Given the description of an element on the screen output the (x, y) to click on. 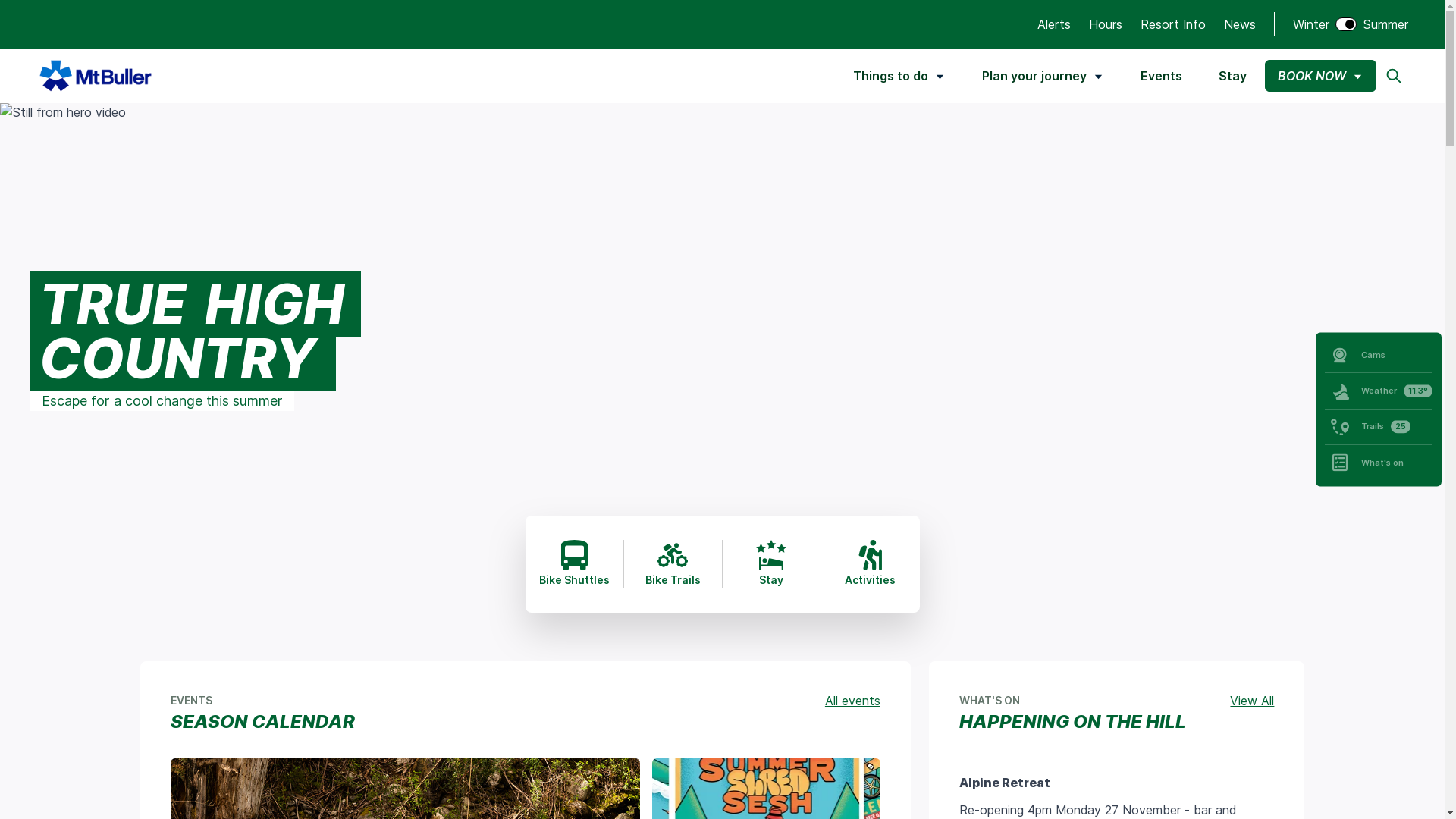
Alerts Element type: text (1053, 23)
Trails 25 Element type: text (1378, 426)
All events Element type: text (851, 700)
What's on Element type: text (1378, 462)
Bike Shuttles Element type: text (573, 562)
BOOK NOW Element type: text (1320, 75)
Events Element type: text (1161, 75)
Resort Info Element type: text (1172, 23)
Stay Element type: text (1232, 75)
Bike Trails Element type: text (672, 562)
Stay Element type: text (770, 562)
View All Element type: text (1252, 700)
Things to do Element type: text (898, 75)
Hours Element type: text (1105, 23)
Activities Element type: text (869, 562)
Cams Element type: text (1378, 354)
News Element type: text (1239, 23)
Plan your journey Element type: text (1042, 75)
